Given the description of an element on the screen output the (x, y) to click on. 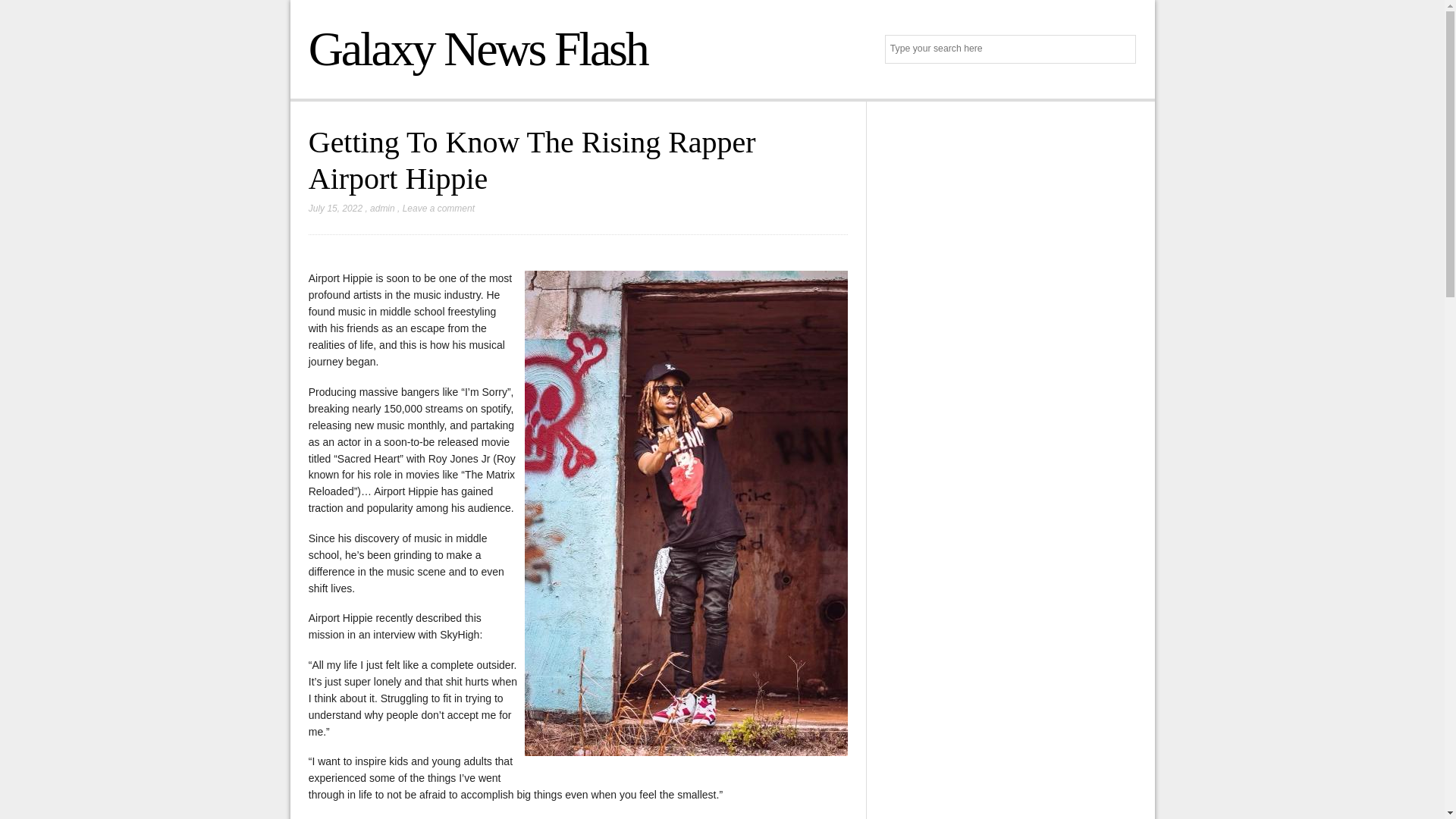
Posts by admin (381, 208)
Galaxy News Flash (477, 49)
admin (381, 208)
Search (1123, 50)
Leave a comment (438, 208)
